Given the description of an element on the screen output the (x, y) to click on. 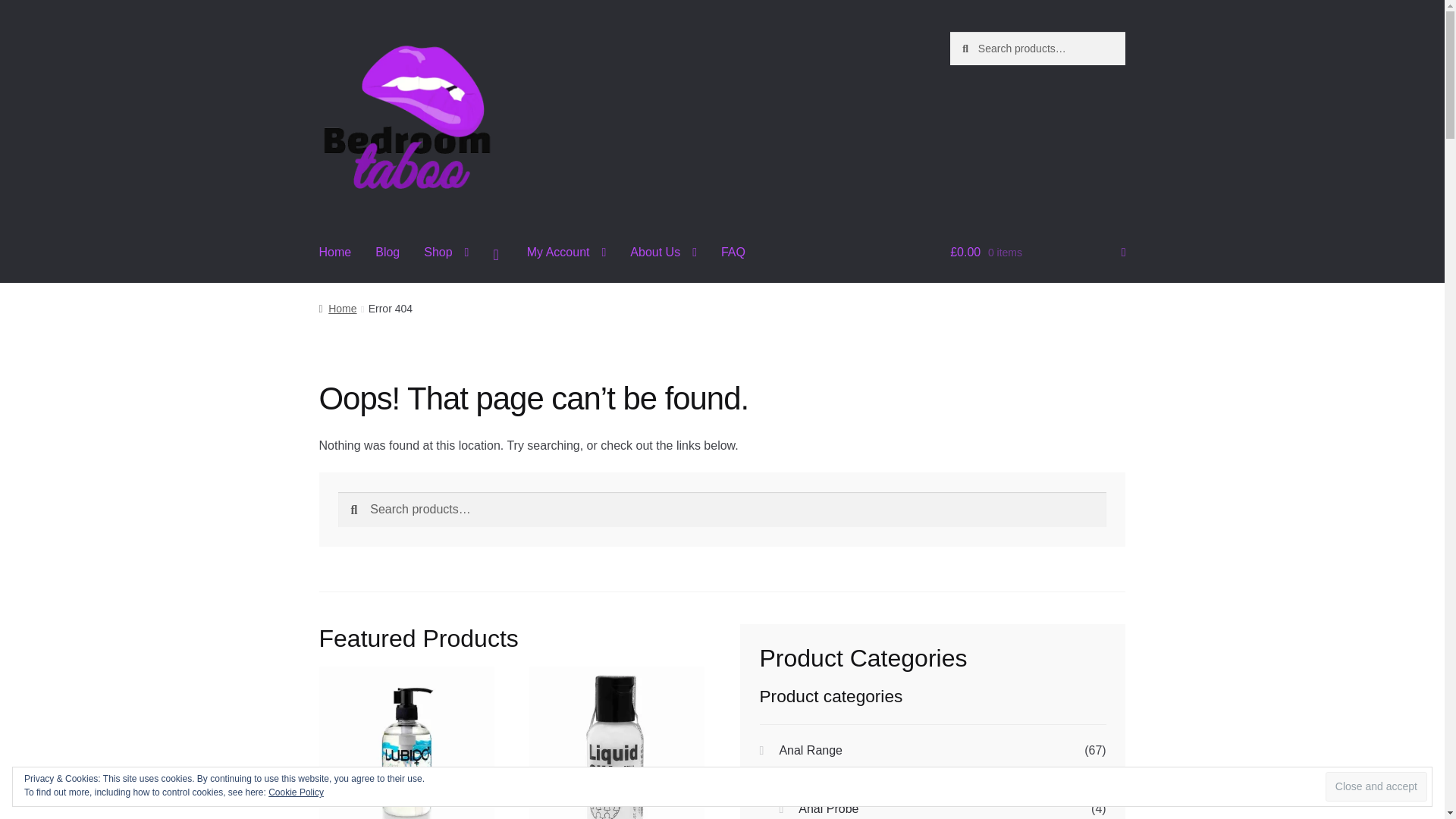
Home (335, 252)
Shop (446, 252)
About Us (663, 252)
View your shopping basket (1037, 252)
Close and accept (1375, 786)
My Account (566, 252)
